Given the description of an element on the screen output the (x, y) to click on. 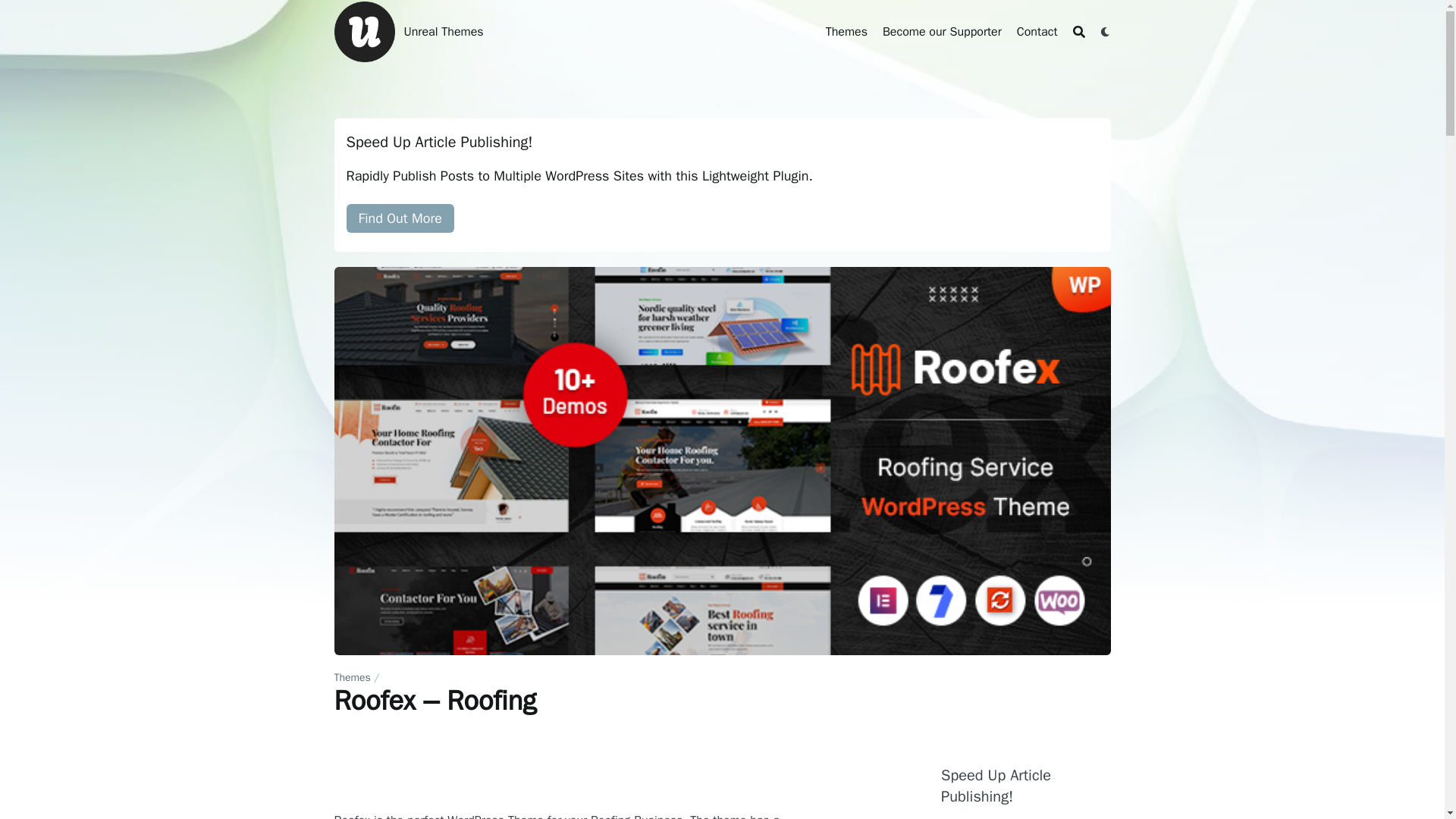
Themes (846, 31)
Themes (846, 31)
Unreal Themes (363, 31)
Unreal Themes (443, 31)
Find Out More (399, 217)
Themes (351, 676)
